Given the description of an element on the screen output the (x, y) to click on. 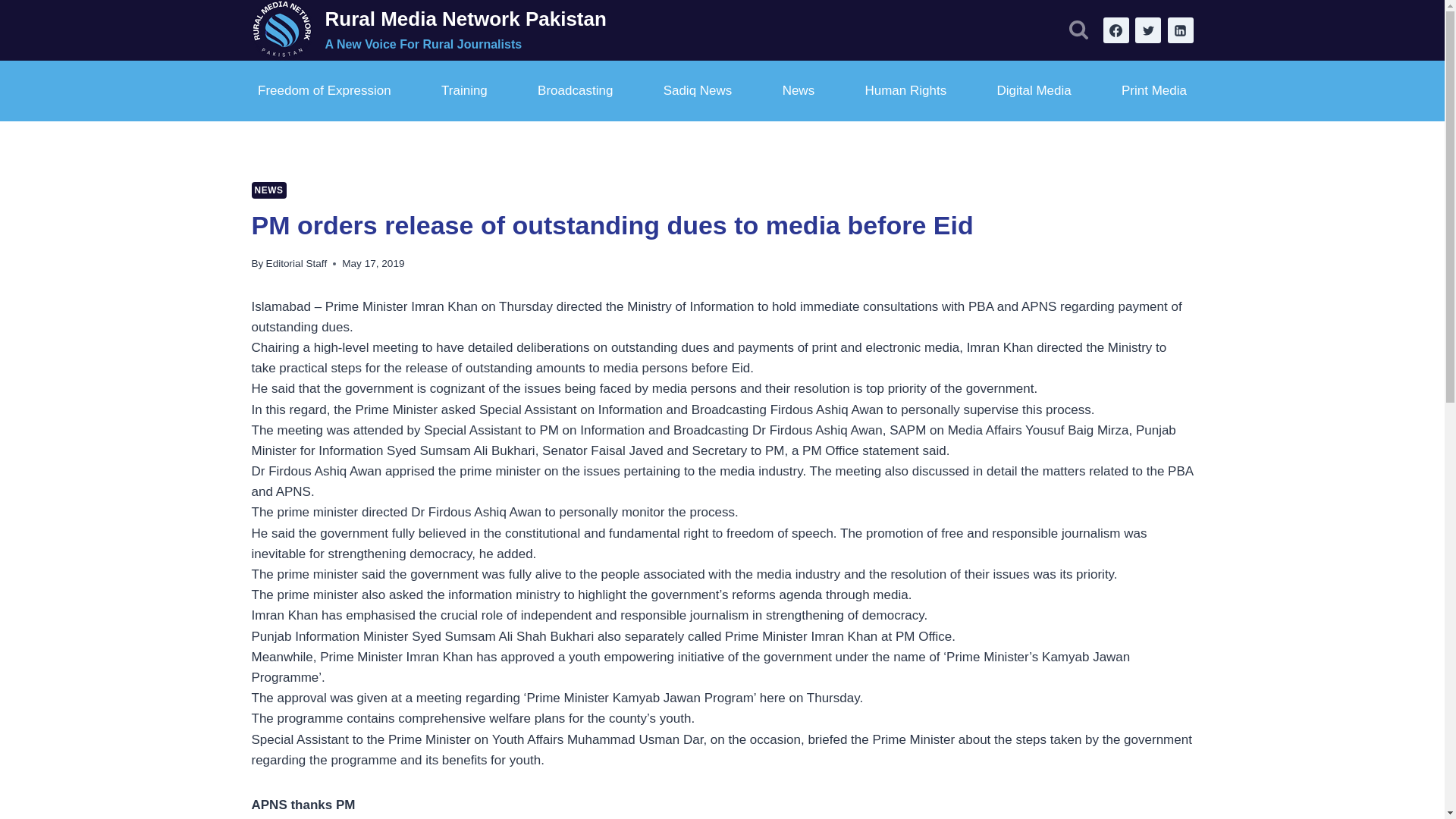
Sadiq News (697, 90)
NEWS (268, 190)
Broadcasting (575, 90)
News (798, 90)
Human Rights (906, 90)
Training (465, 90)
Digital Media (1033, 90)
Editorial Staff (296, 263)
Freedom of Expression (324, 90)
